Given the description of an element on the screen output the (x, y) to click on. 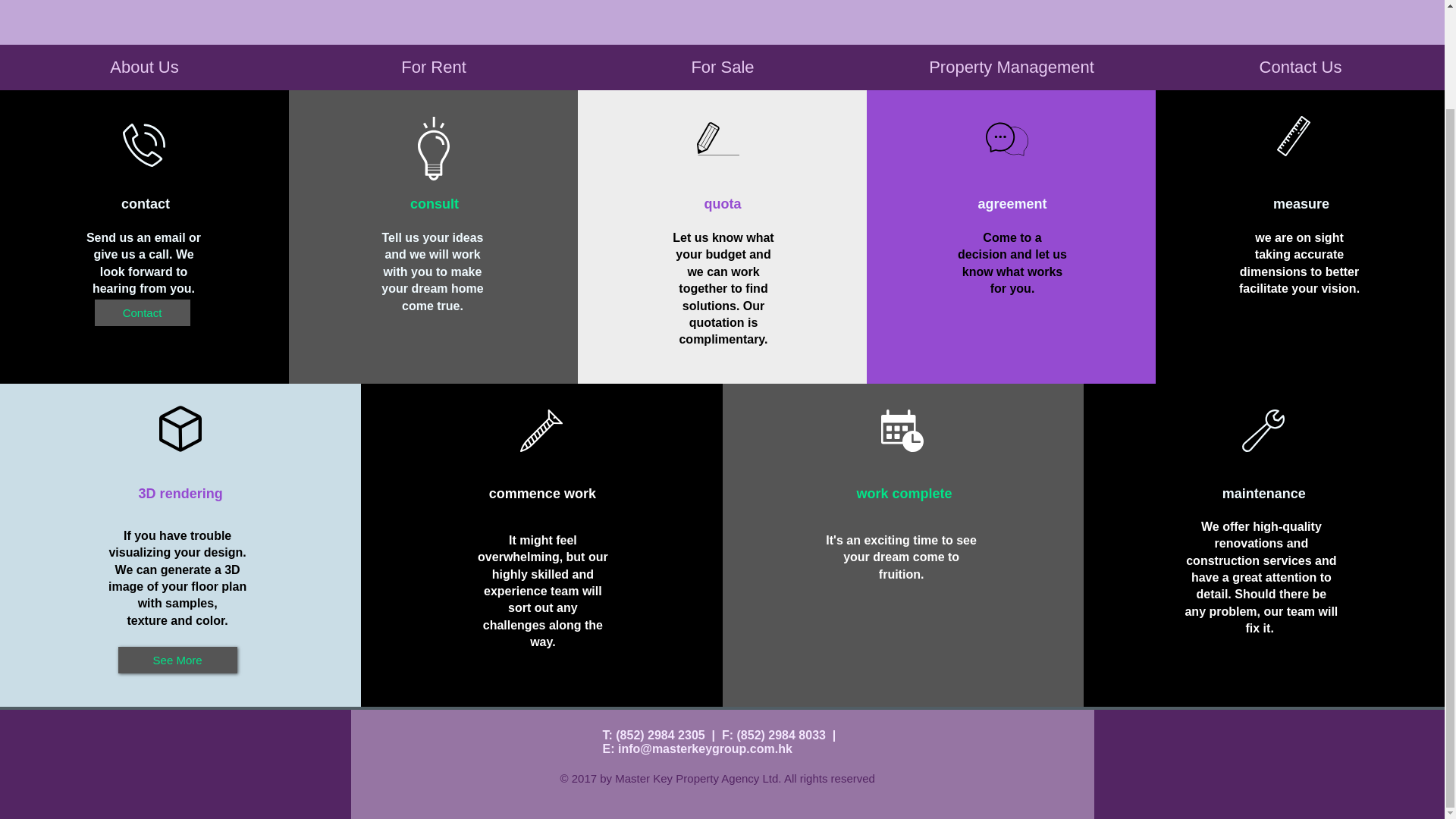
See More (177, 660)
For Sale (722, 67)
Contact (141, 312)
Property Management (1011, 67)
For Rent (433, 67)
About Us (144, 67)
